Given the description of an element on the screen output the (x, y) to click on. 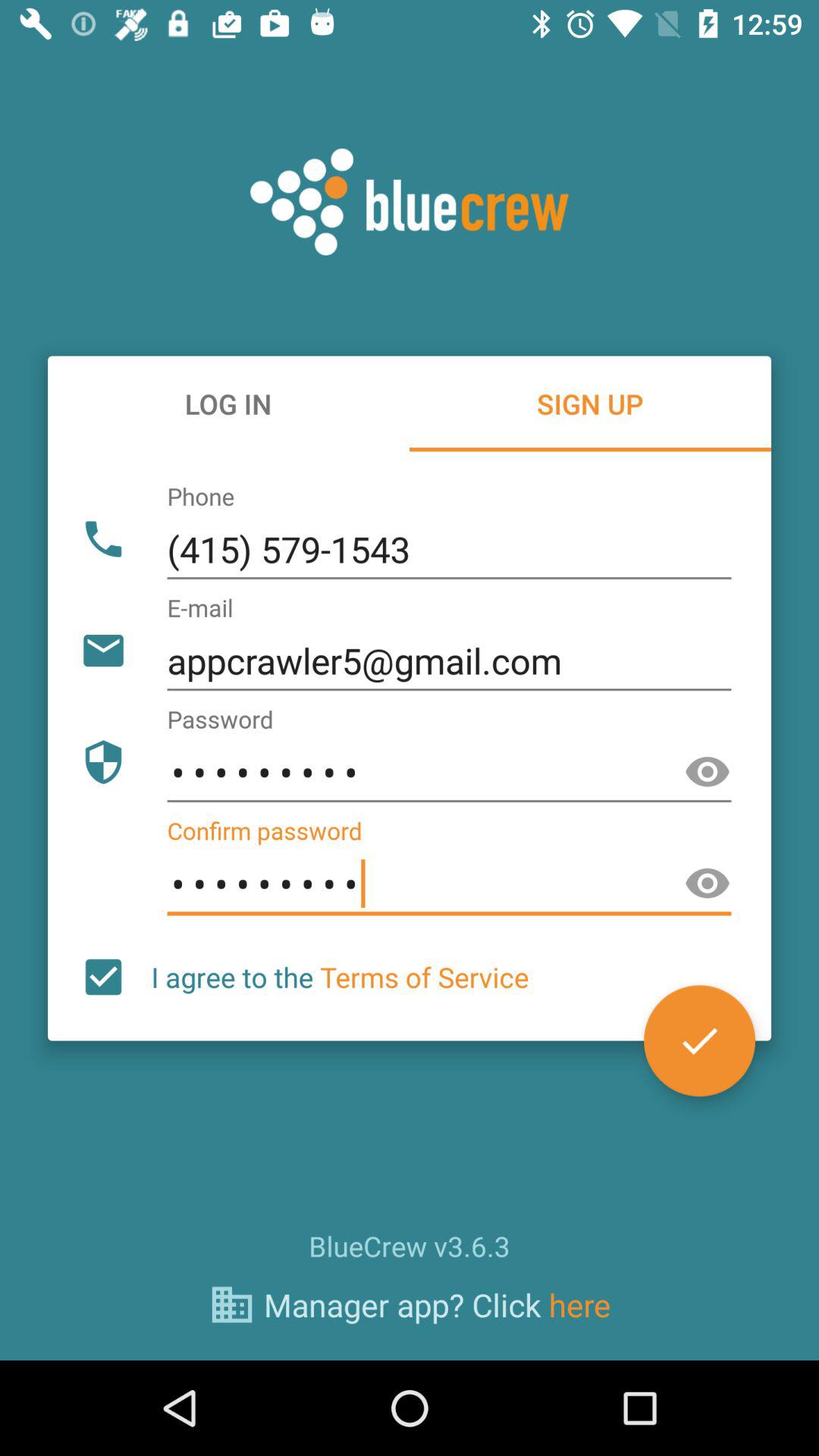
select the item above the bluecrew v3 6 (699, 1040)
